Given the description of an element on the screen output the (x, y) to click on. 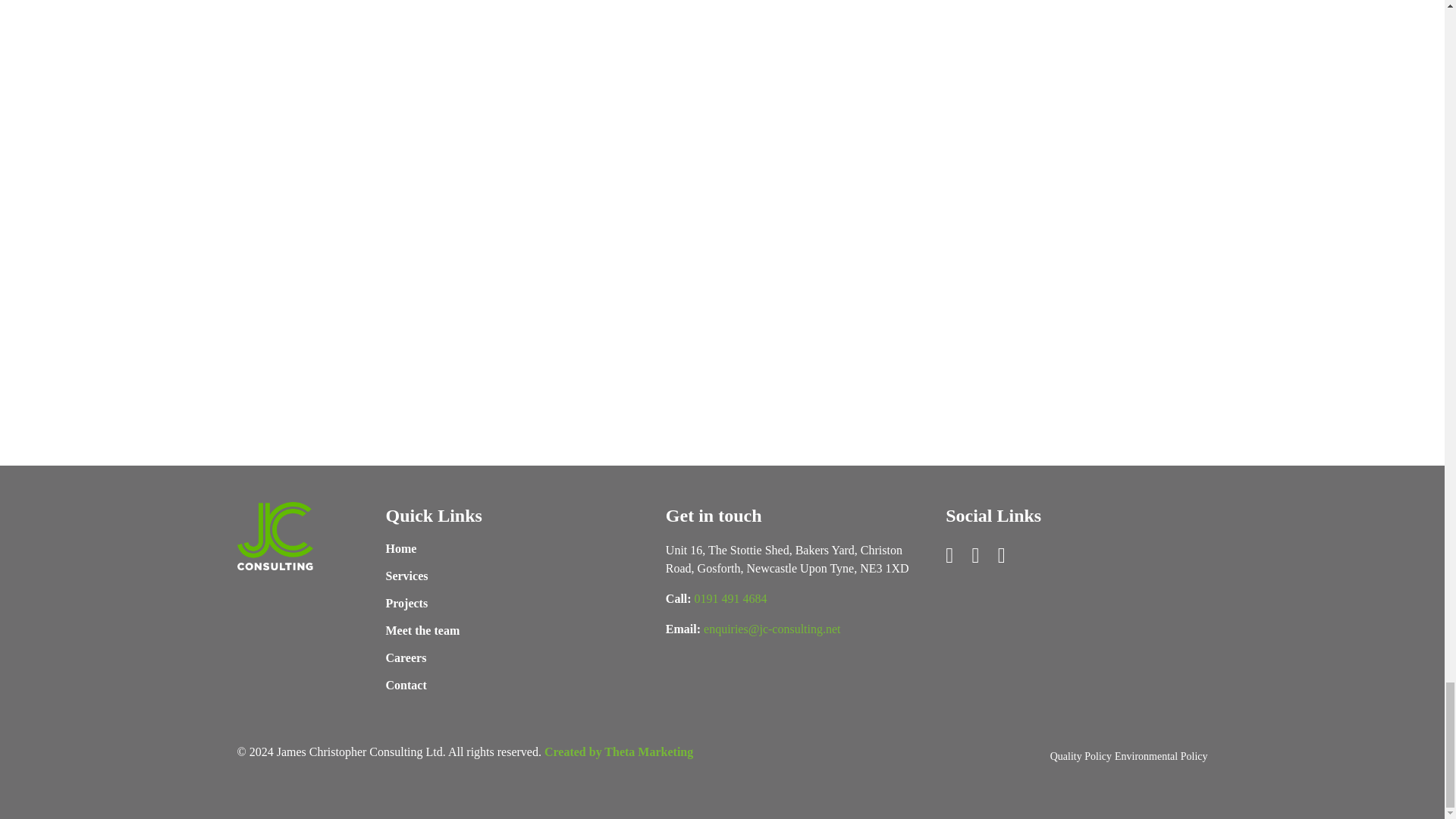
Home (400, 548)
Projects (406, 603)
Environmental Policy (1161, 756)
0191 491 4684 (730, 598)
Services (406, 575)
Contact (405, 685)
Meet the team (422, 630)
Quality Policy (1080, 756)
Created by Theta Marketing (618, 751)
Careers (405, 657)
